Given the description of an element on the screen output the (x, y) to click on. 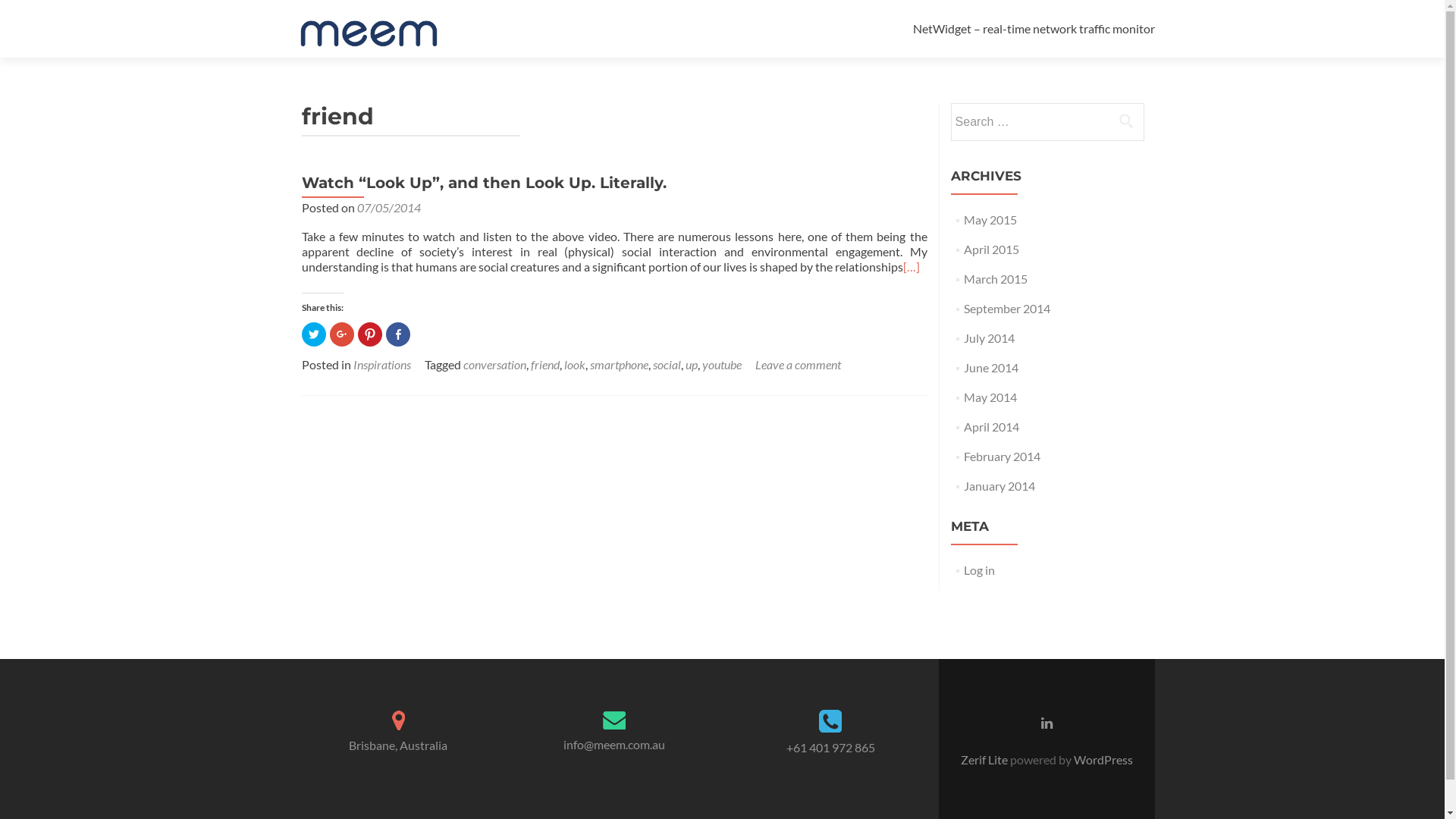
Click to share on Twitter (Opens in new window) Element type: text (313, 334)
May 2014 Element type: text (989, 396)
Zerif Lite Element type: text (984, 759)
January 2014 Element type: text (999, 485)
Leave a comment Element type: text (797, 364)
Click to share on Facebook (Opens in new window) Element type: text (397, 334)
Search Element type: text (1125, 120)
Click to share on Google+ (Opens in new window) Element type: text (341, 334)
WordPress Element type: text (1101, 759)
July 2014 Element type: text (988, 337)
youtube Element type: text (721, 364)
smartphone Element type: text (618, 364)
May 2015 Element type: text (989, 219)
07/05/2014 Element type: text (388, 207)
look Element type: text (574, 364)
Skip to content Element type: text (952, 9)
March 2015 Element type: text (995, 278)
April 2015 Element type: text (991, 248)
Inspirations Element type: text (382, 364)
social Element type: text (666, 364)
Click to share on Pinterest (Opens in new window) Element type: text (369, 334)
April 2014 Element type: text (991, 426)
Log in Element type: text (978, 569)
friend Element type: text (544, 364)
June 2014 Element type: text (990, 367)
up Element type: text (691, 364)
info@meem.com.au Element type: text (614, 744)
February 2014 Element type: text (1001, 455)
conversation Element type: text (493, 364)
September 2014 Element type: text (1006, 308)
+61 401 972 865 Element type: text (829, 747)
